Given the description of an element on the screen output the (x, y) to click on. 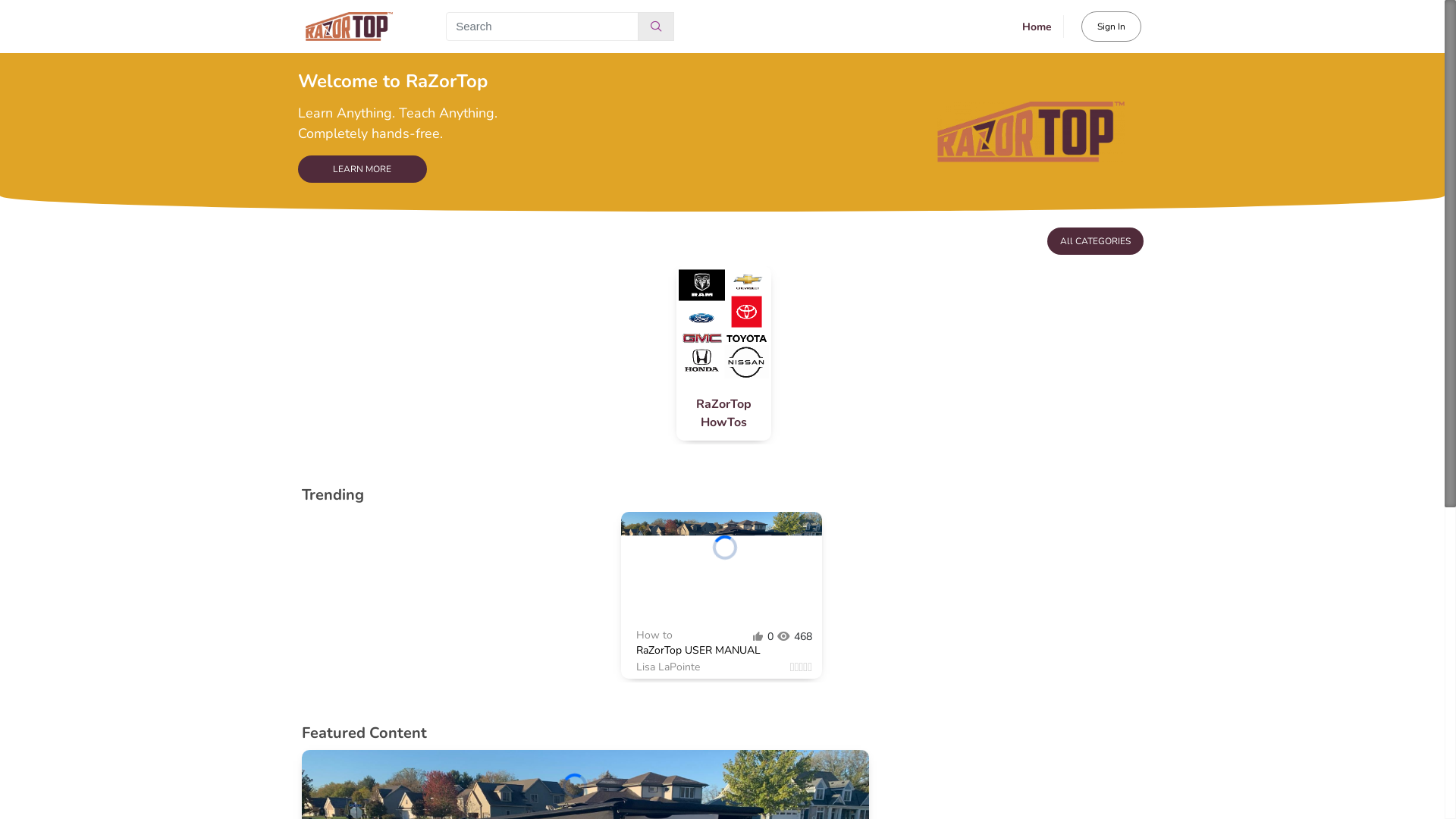
LEARN MORE Element type: text (361, 168)
Sign In Element type: text (1111, 26)
RaZorTop USER MANUAL Element type: text (727, 650)
All CATEGORIES Element type: text (1094, 240)
